Given the description of an element on the screen output the (x, y) to click on. 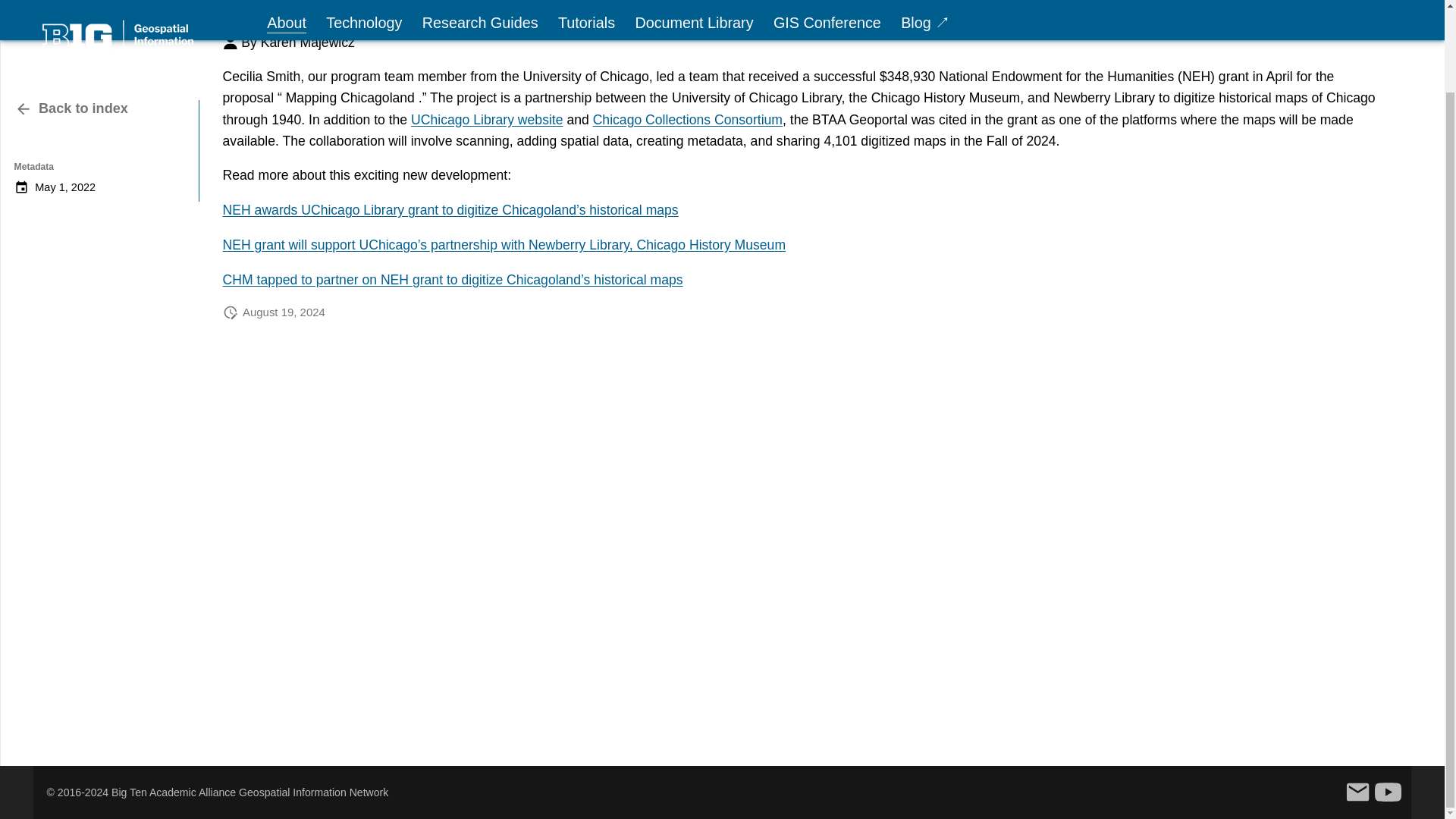
www.youtube.com (1387, 791)
Last update (230, 312)
UChicago Library website (101, 58)
Back to index (486, 119)
Chicago Collections Consortium (71, 15)
geo.btaa.org (687, 119)
